Given the description of an element on the screen output the (x, y) to click on. 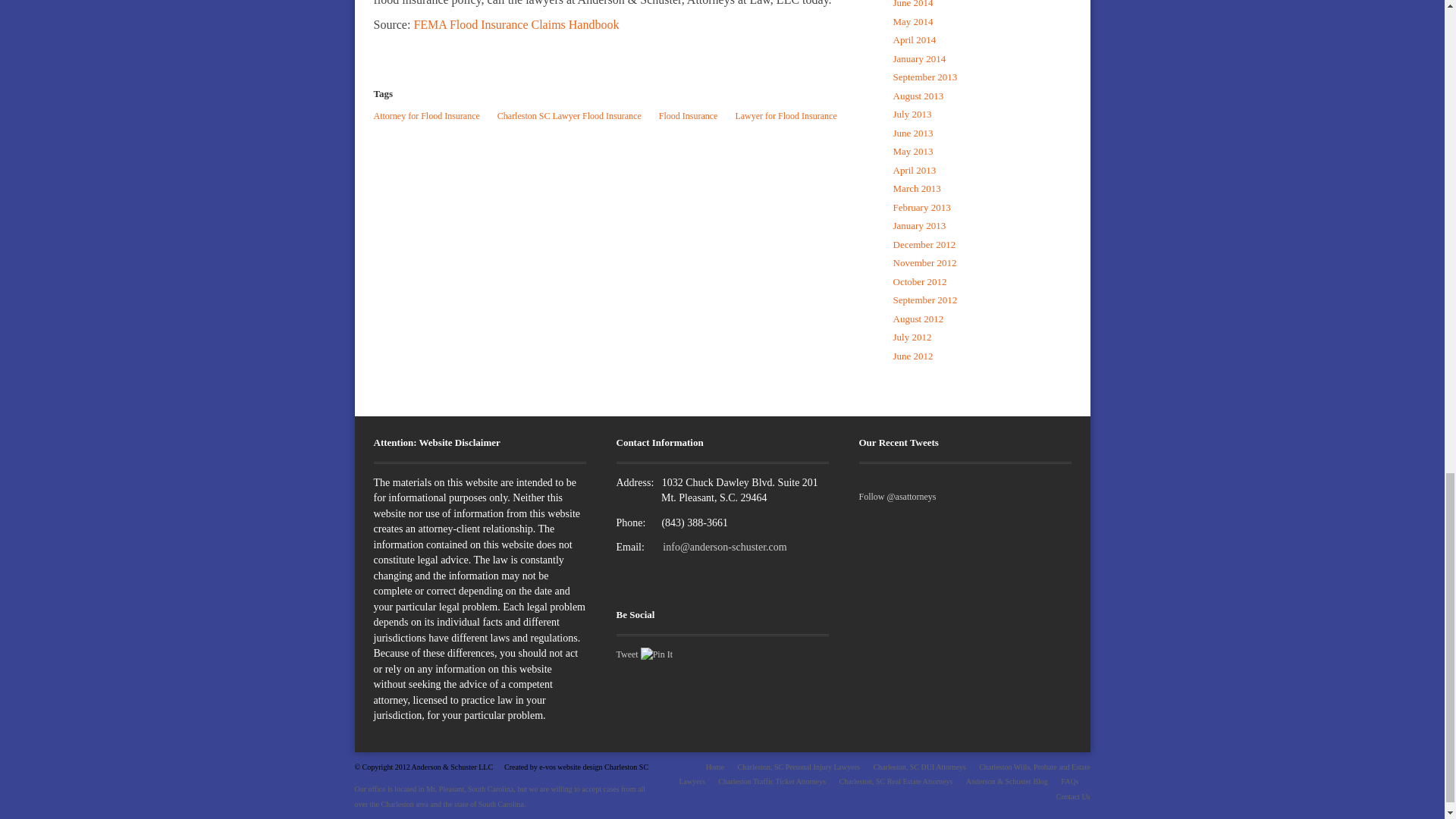
Pin It (656, 654)
